Given the description of an element on the screen output the (x, y) to click on. 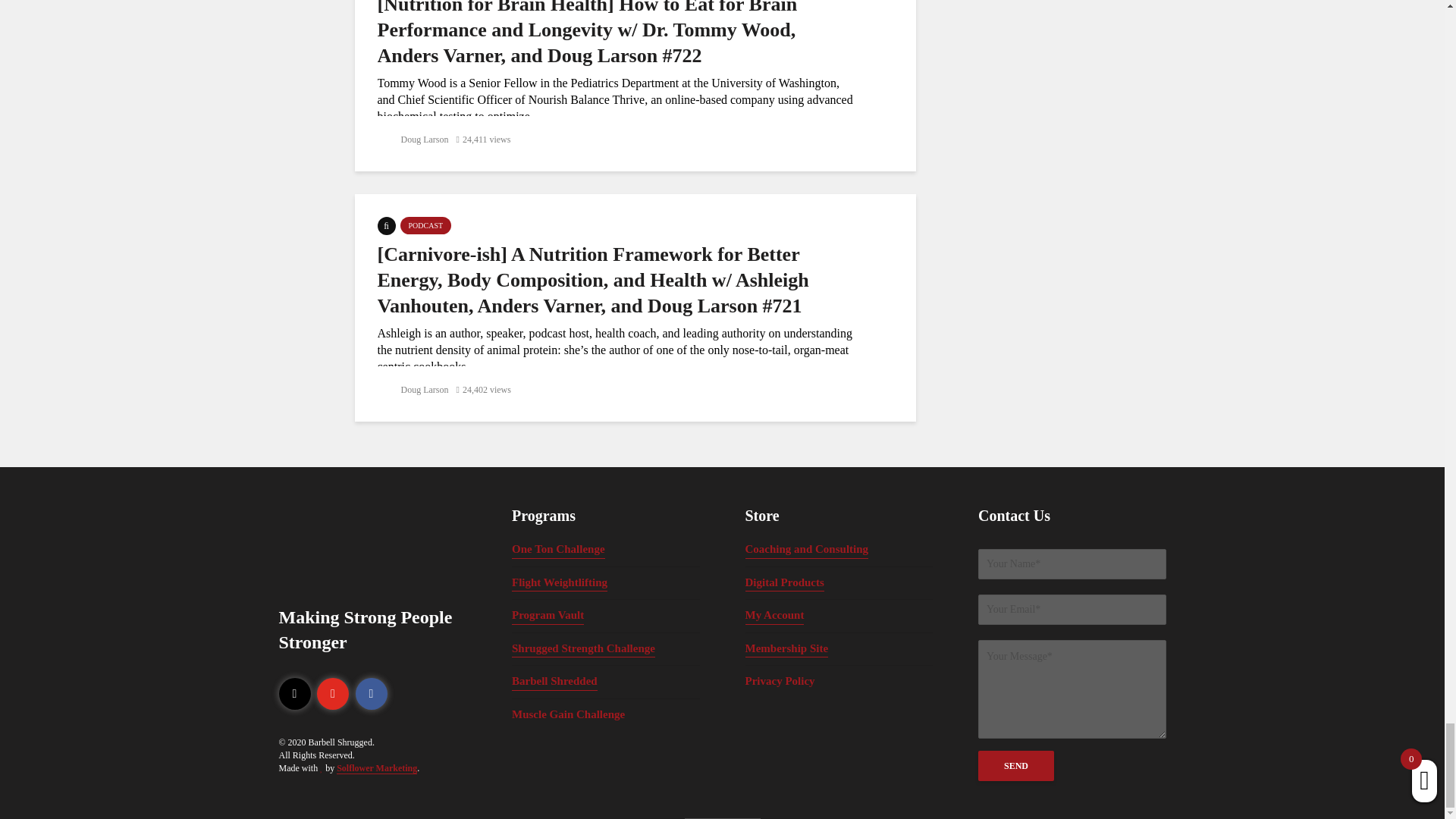
Instagram (295, 694)
YouTube (333, 694)
Send (1016, 766)
Facebook (371, 694)
